Given the description of an element on the screen output the (x, y) to click on. 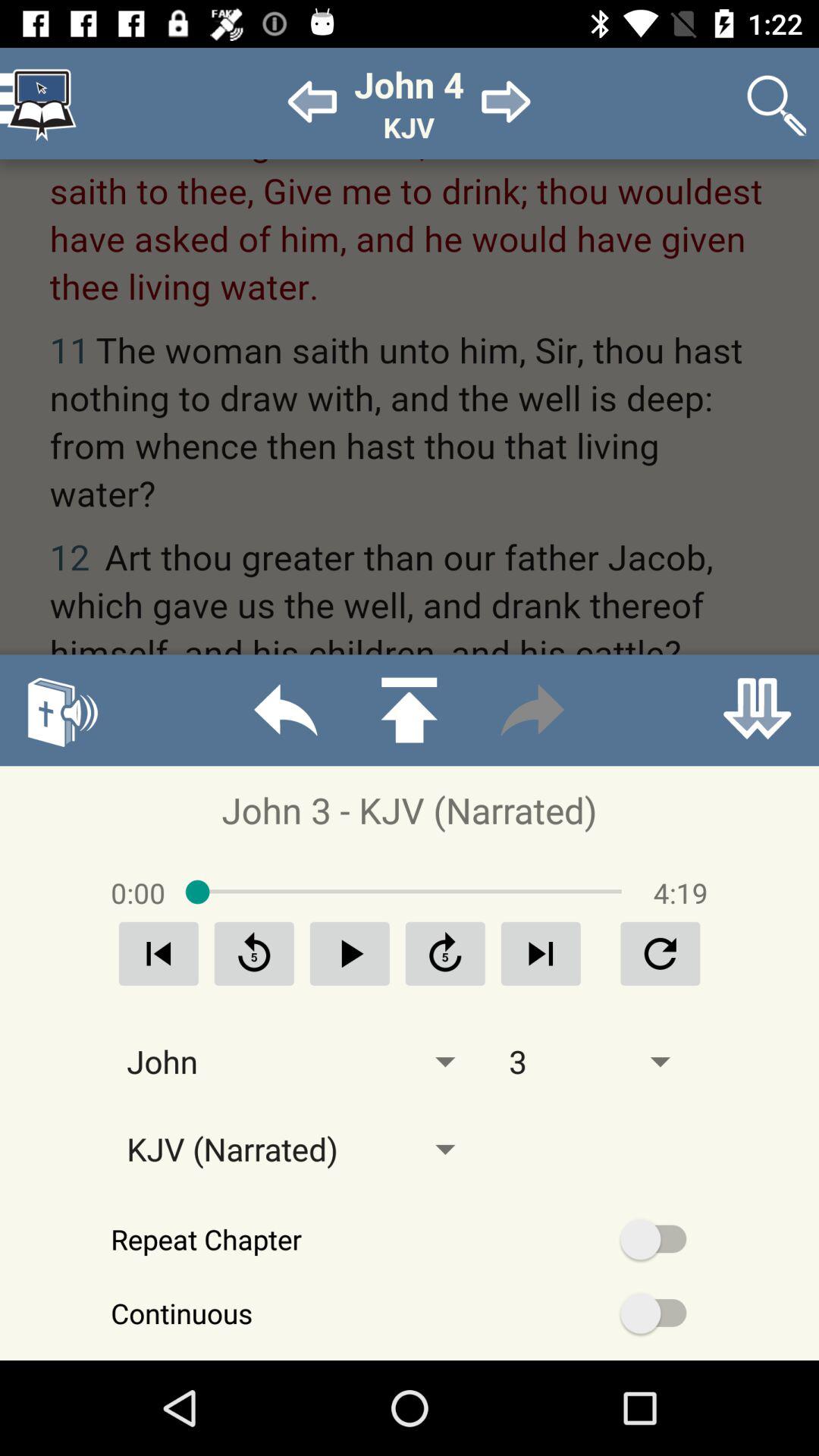
previous (158, 953)
